Given the description of an element on the screen output the (x, y) to click on. 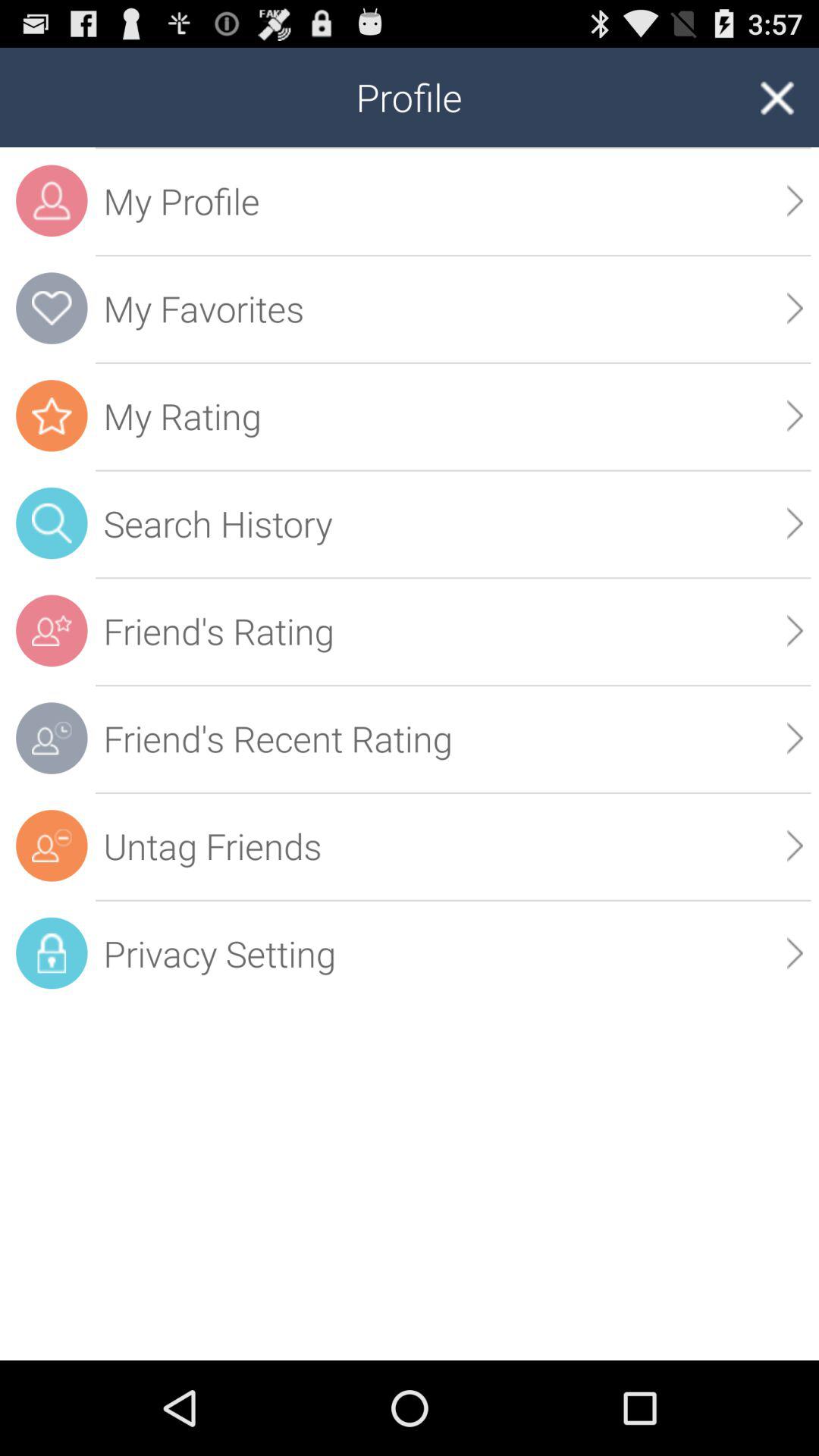
open icon below the untag friends app (453, 953)
